Given the description of an element on the screen output the (x, y) to click on. 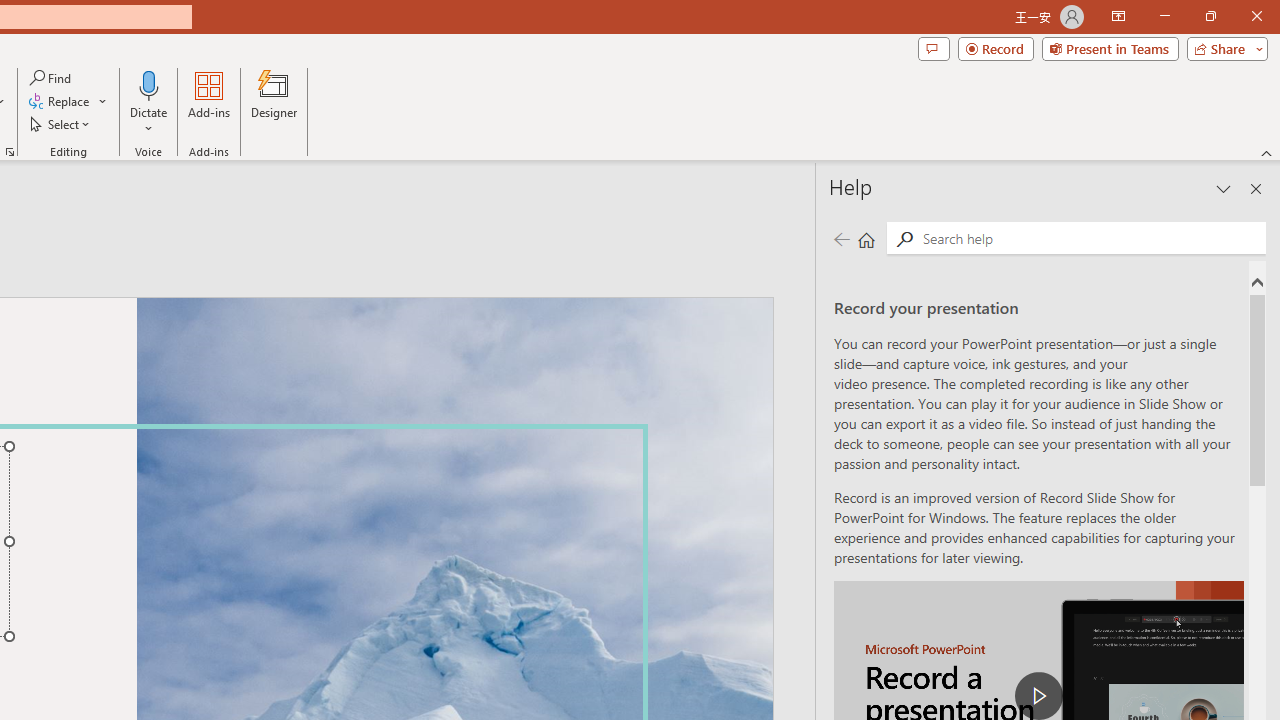
Replace... (68, 101)
Format Object... (9, 151)
Select (61, 124)
Designer (274, 102)
Replace... (60, 101)
Dictate (149, 102)
